Given the description of an element on the screen output the (x, y) to click on. 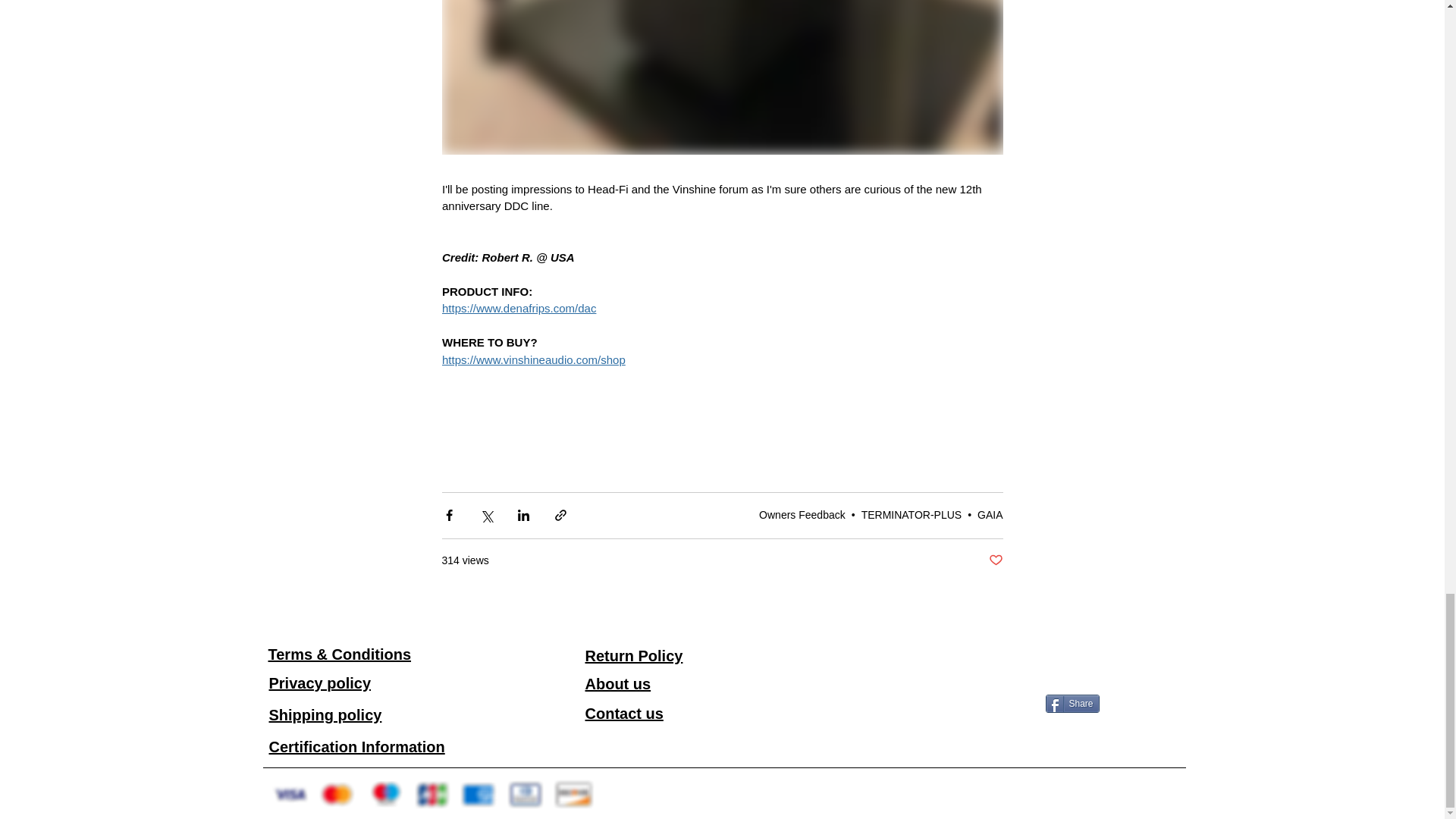
Share (1072, 703)
c1944c02c8ecee6bce4d5017ca338b52.png (574, 794)
90b92aaa6ce464db0515db261f1a9802.png (525, 794)
d723c42f5616101a5291a65b56753799.png (477, 794)
f1fa87b46f2ec2f331a5ef2ad52b8a39.png (385, 794)
